Given the description of an element on the screen output the (x, y) to click on. 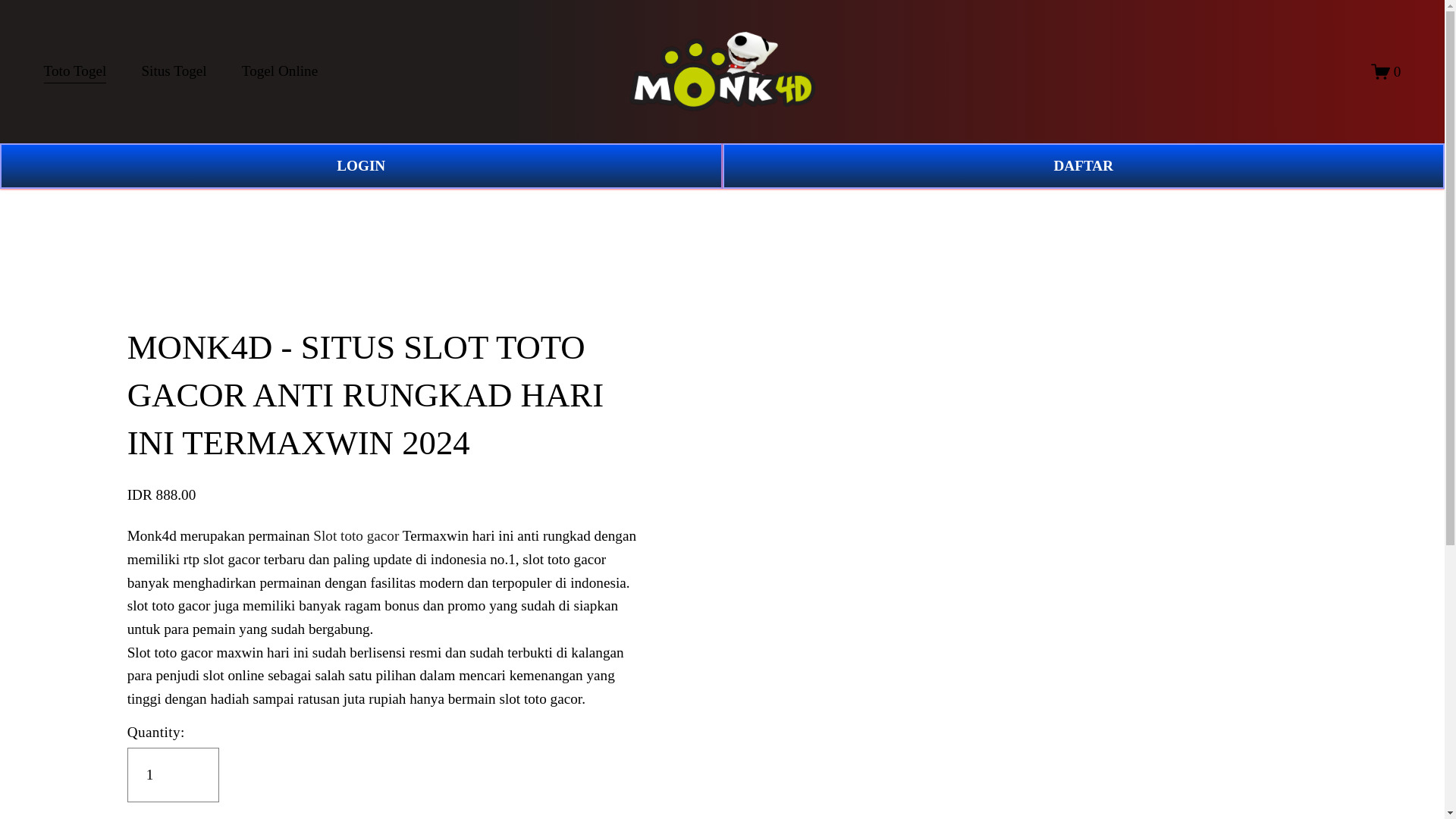
Situs Togel (173, 71)
Togel Online (279, 71)
0 (1385, 71)
LOGIN (361, 166)
Slot toto gacor (355, 535)
Toto Togel (74, 71)
1 (173, 774)
